Given the description of an element on the screen output the (x, y) to click on. 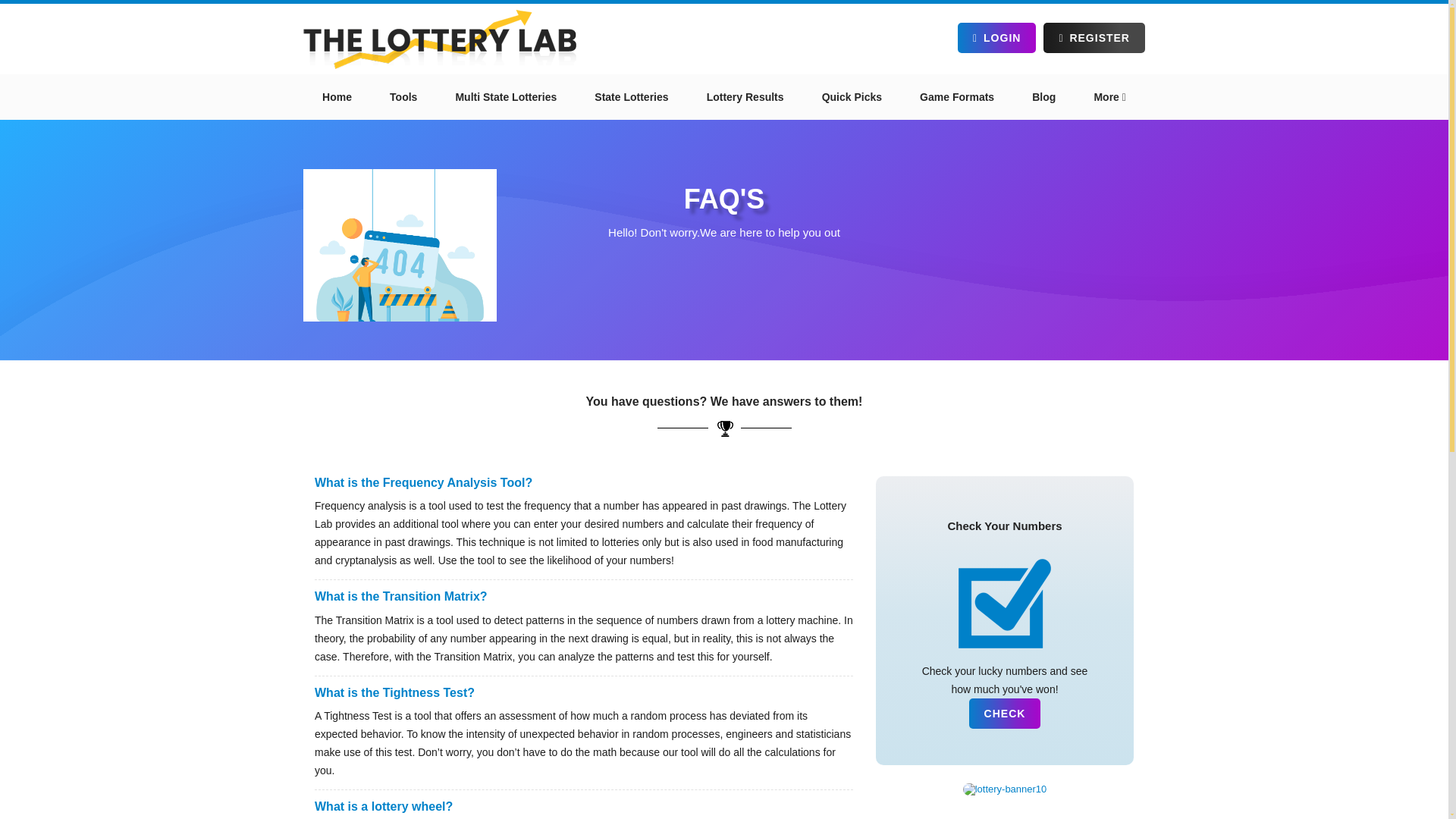
Multi State Lotteries (505, 96)
REGISTER (1093, 37)
Tools (403, 96)
Quick Picks (851, 96)
Lottery Results (745, 96)
State Lotteries (630, 96)
Home (336, 96)
Game Formats (956, 96)
More (1109, 96)
LOGIN (996, 37)
